Given the description of an element on the screen output the (x, y) to click on. 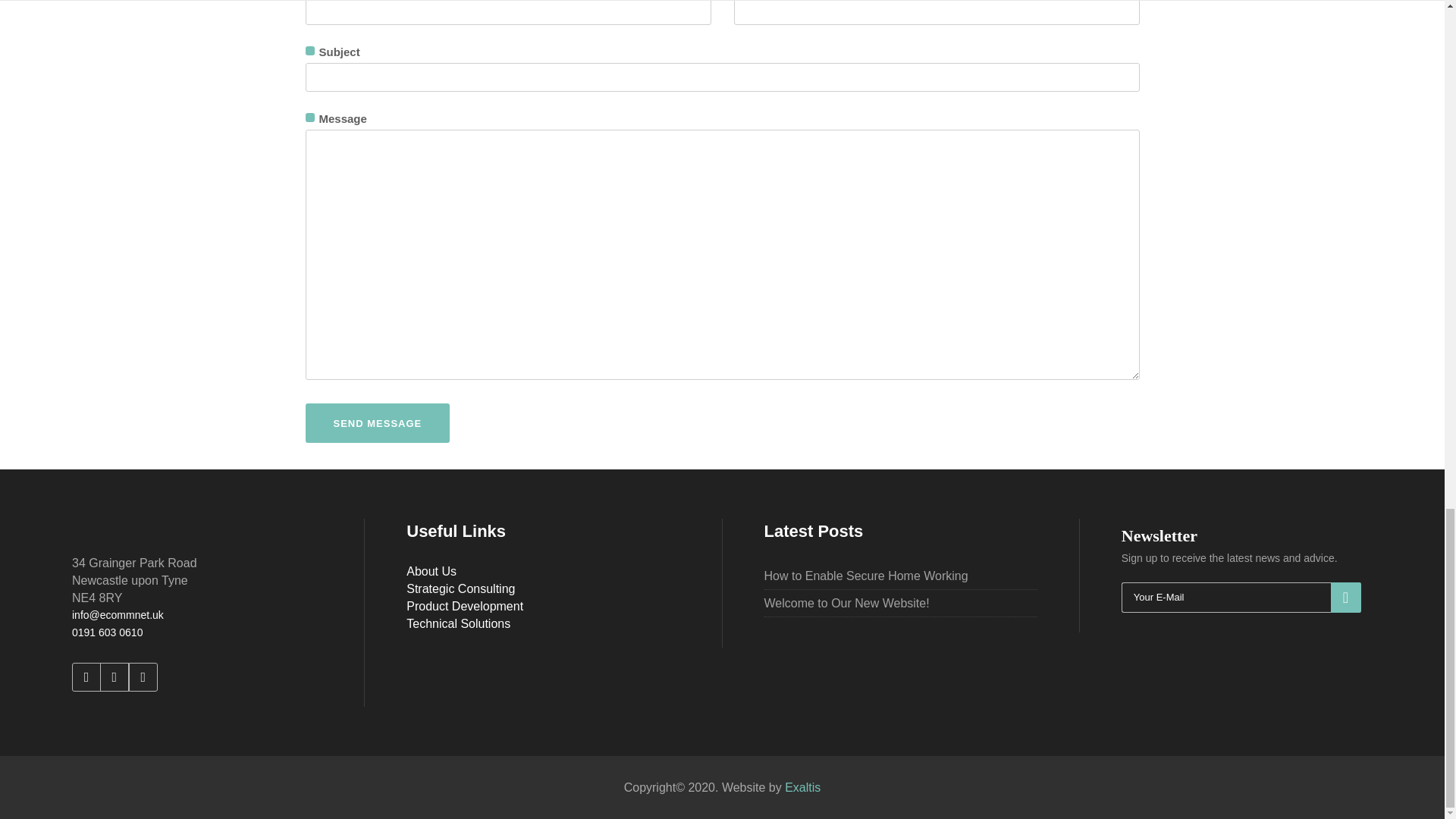
0191 603 0610 (106, 632)
Send message (376, 423)
Send message (376, 423)
Strategic Consulting (460, 588)
About Us (431, 571)
